Given the description of an element on the screen output the (x, y) to click on. 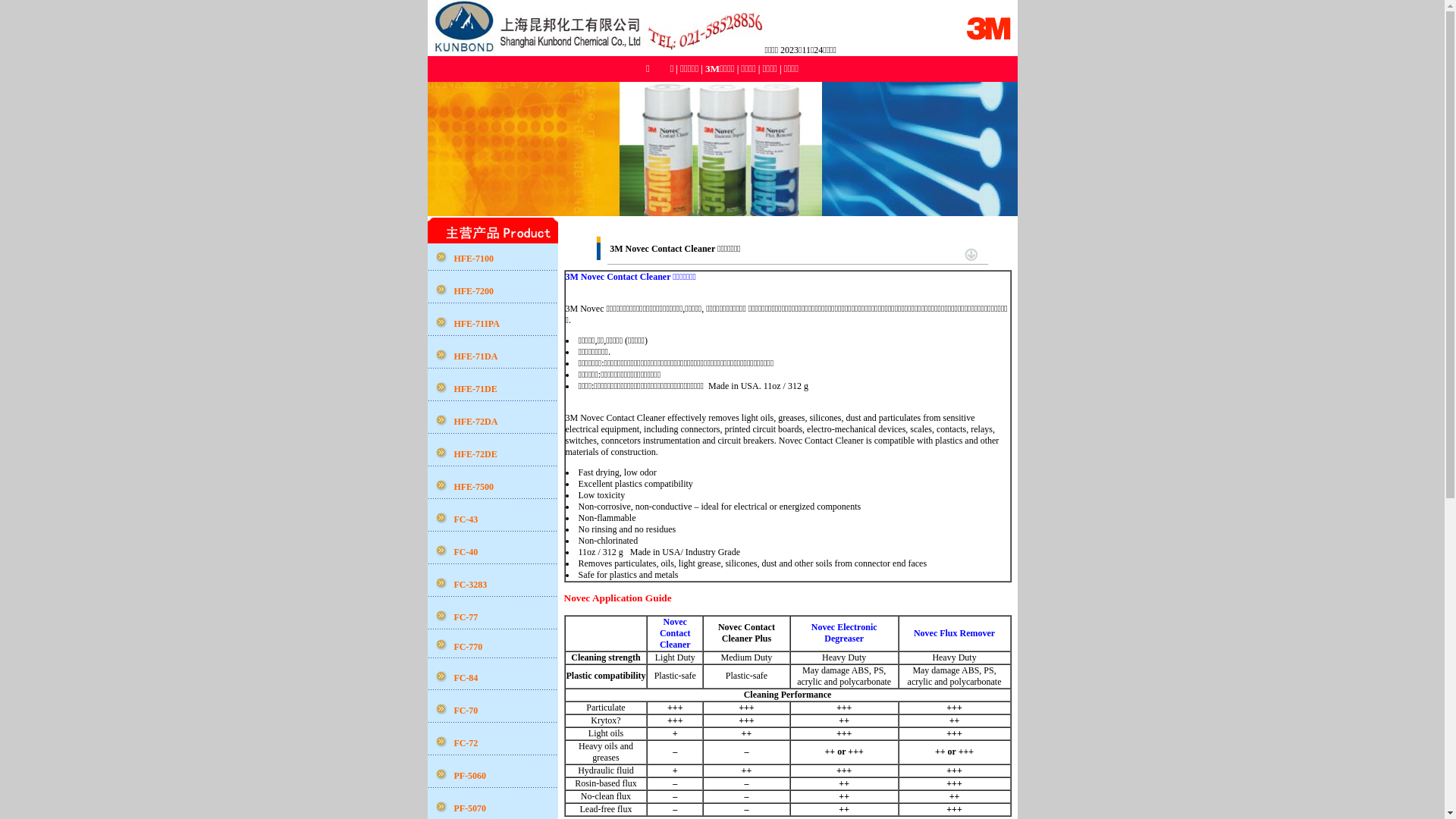
FC-84 Element type: text (465, 677)
HFE-7200 Element type: text (473, 290)
FC-43 Element type: text (465, 519)
HFE-71DA Element type: text (475, 356)
HFE-72DA Element type: text (475, 421)
PF-5070 Element type: text (469, 808)
HFE-72DE Element type: text (474, 453)
FC-77 Element type: text (465, 616)
Novec Contact Cleaner Element type: text (674, 632)
Novec Flux Remover Element type: text (953, 632)
HFE-7500 Element type: text (473, 486)
HFE-7100 Element type: text (473, 258)
FC-770 Element type: text (467, 646)
Novec Electronic Degreaser Element type: text (844, 632)
FC-3283 Element type: text (469, 584)
HFE-71DE Element type: text (474, 388)
FC-72 Element type: text (465, 742)
PF-5060 Element type: text (469, 775)
FC-70 Element type: text (465, 710)
HFE-71IPA Element type: text (475, 323)
FC-40 Element type: text (465, 551)
